Given the description of an element on the screen output the (x, y) to click on. 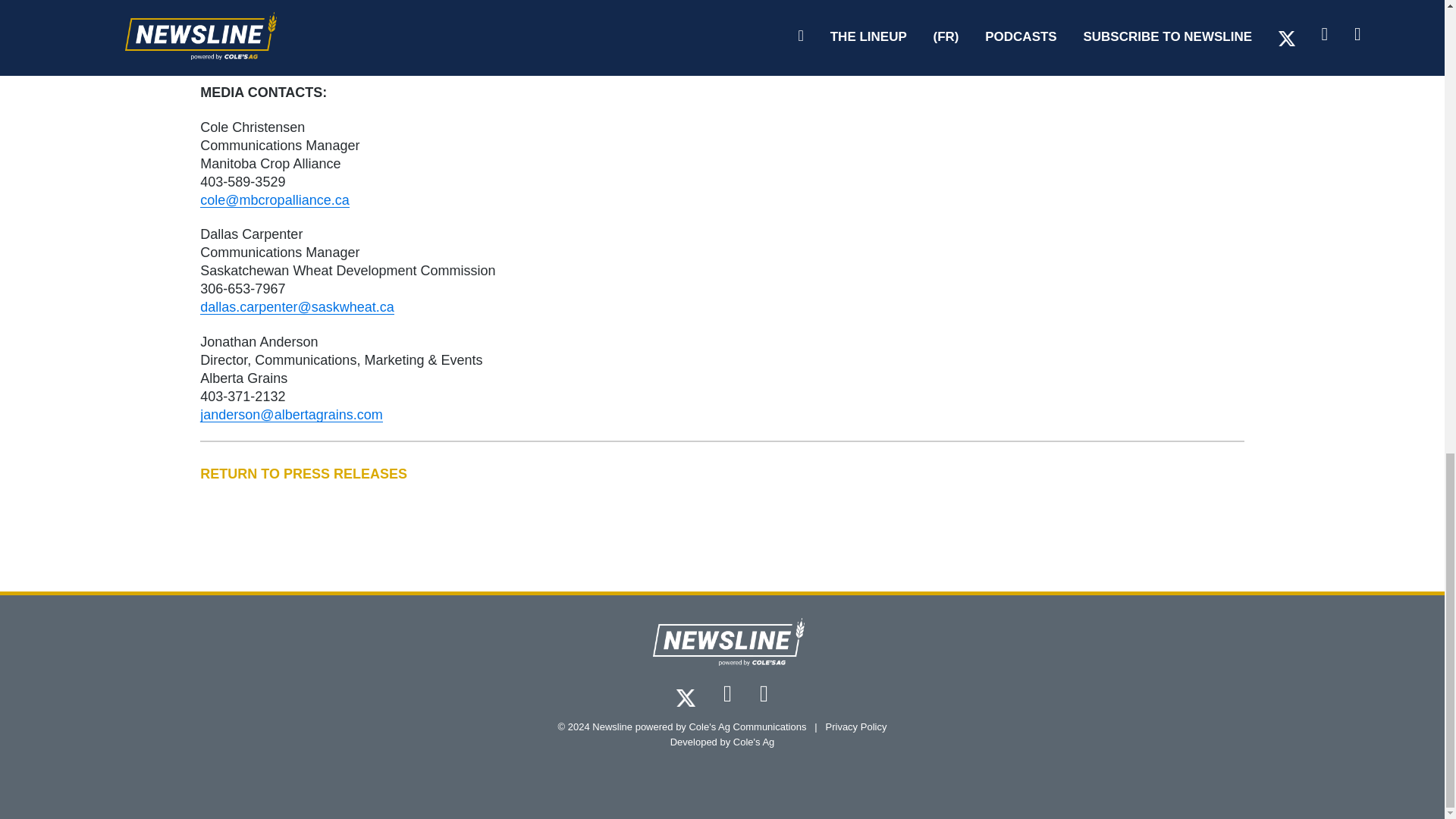
TW (686, 696)
RETURN TO PRESS RELEASES (721, 474)
